Given the description of an element on the screen output the (x, y) to click on. 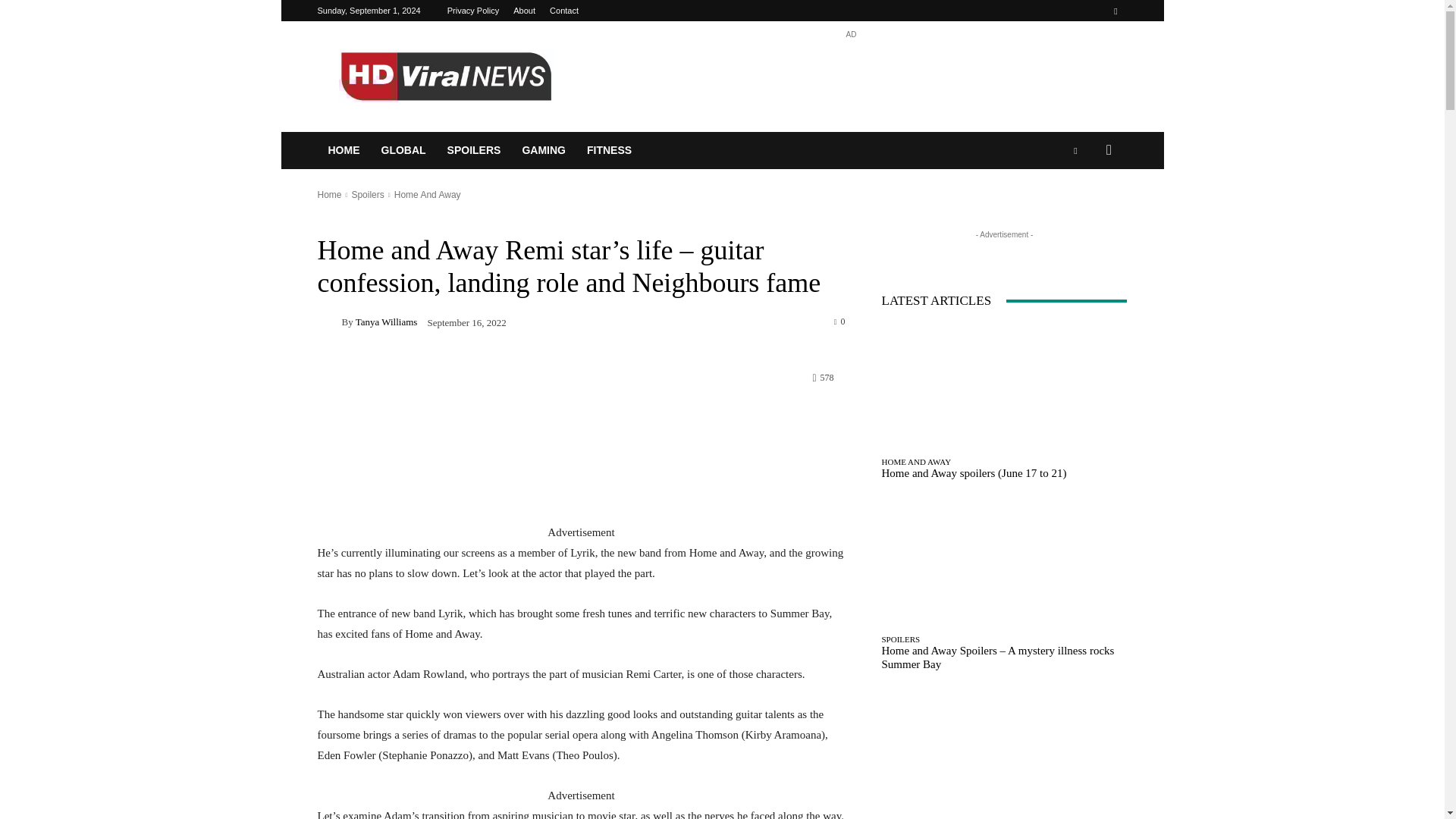
GLOBAL (402, 149)
SPOILERS (474, 149)
About (524, 10)
HOME (343, 149)
Facebook (1114, 10)
Privacy Policy (472, 10)
Contact (564, 10)
